Given the description of an element on the screen output the (x, y) to click on. 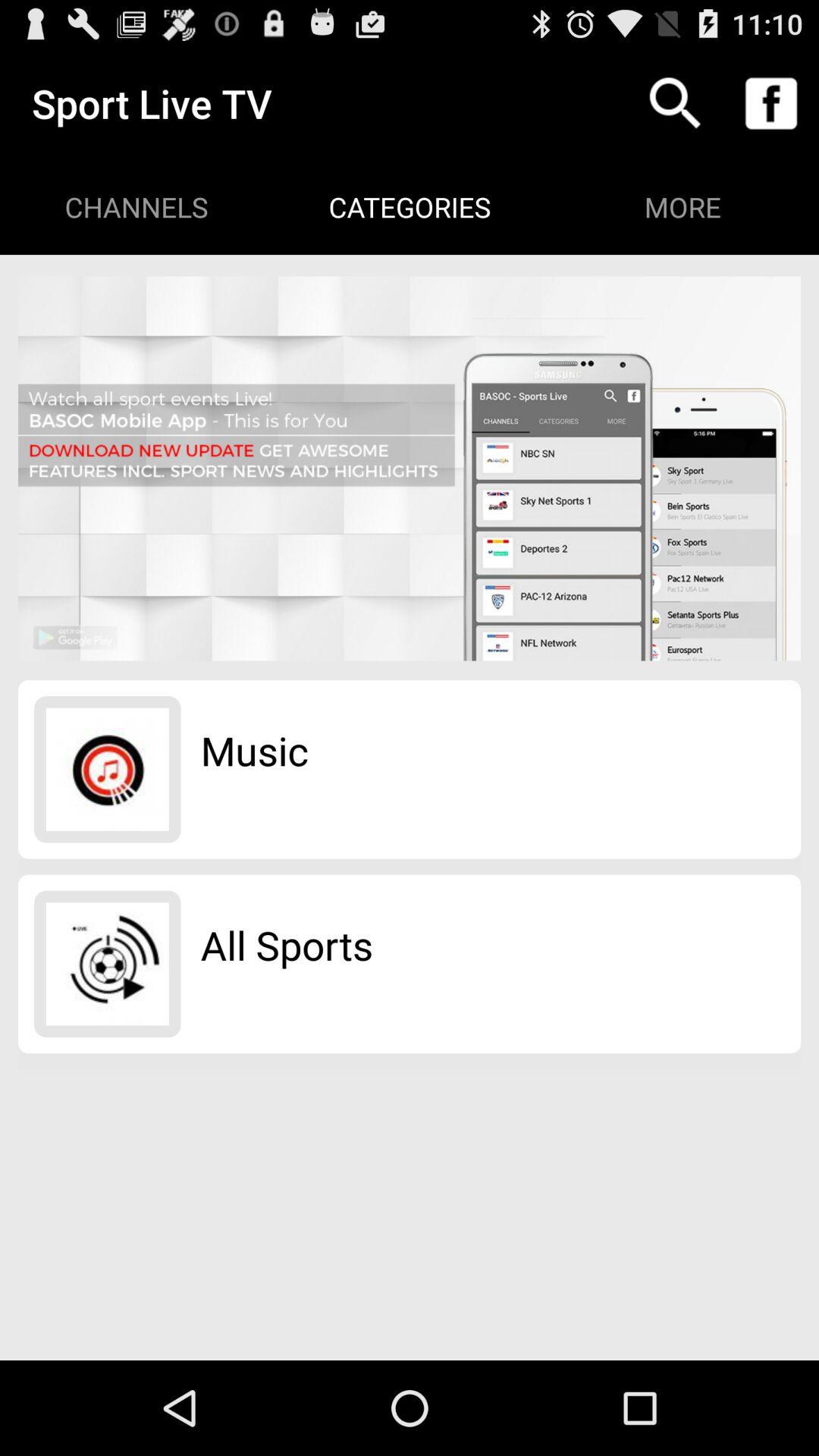
choose icon above more (675, 103)
